Given the description of an element on the screen output the (x, y) to click on. 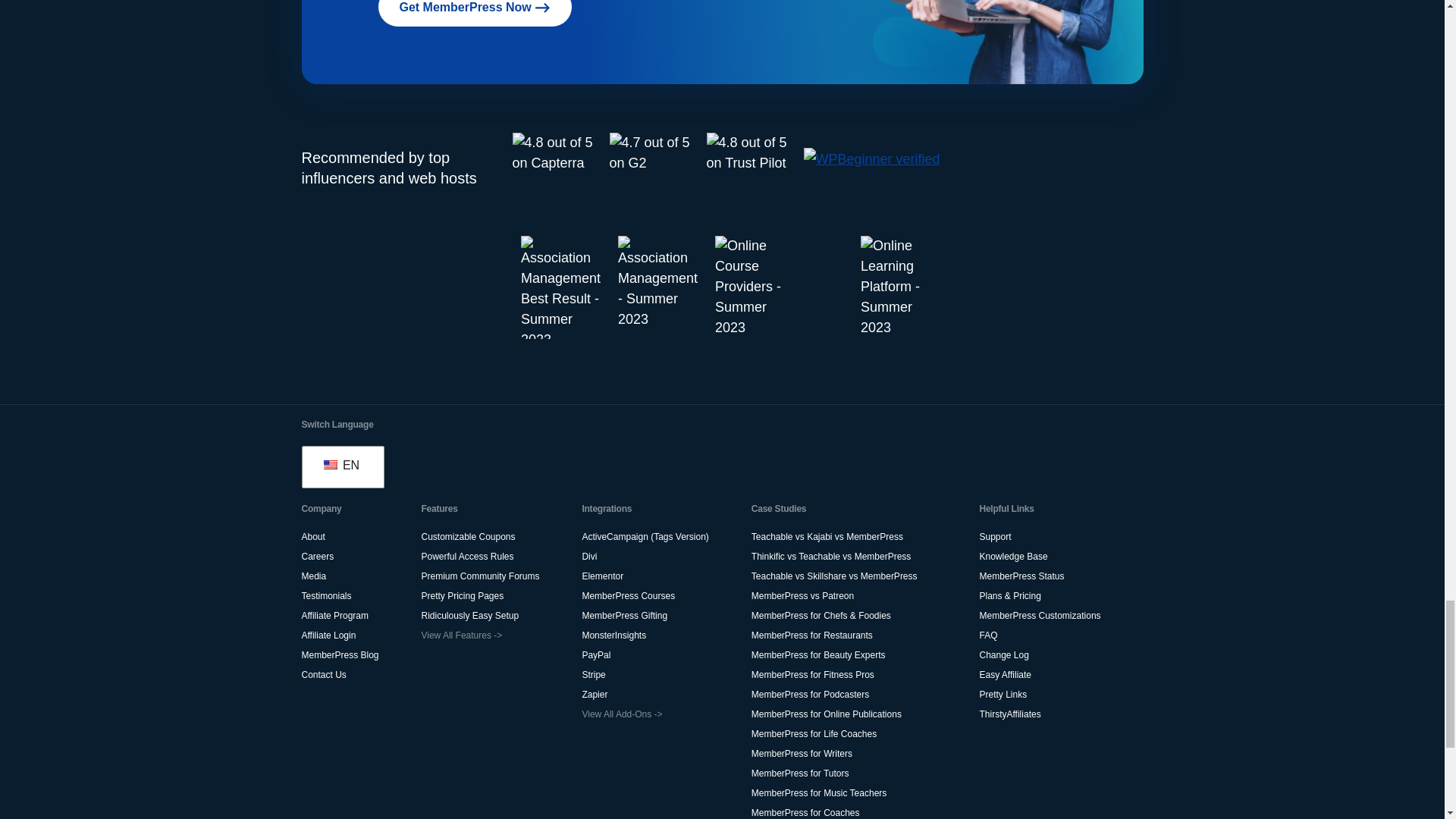
Get MemberPress Now (474, 13)
English (341, 465)
English (329, 464)
